Given the description of an element on the screen output the (x, y) to click on. 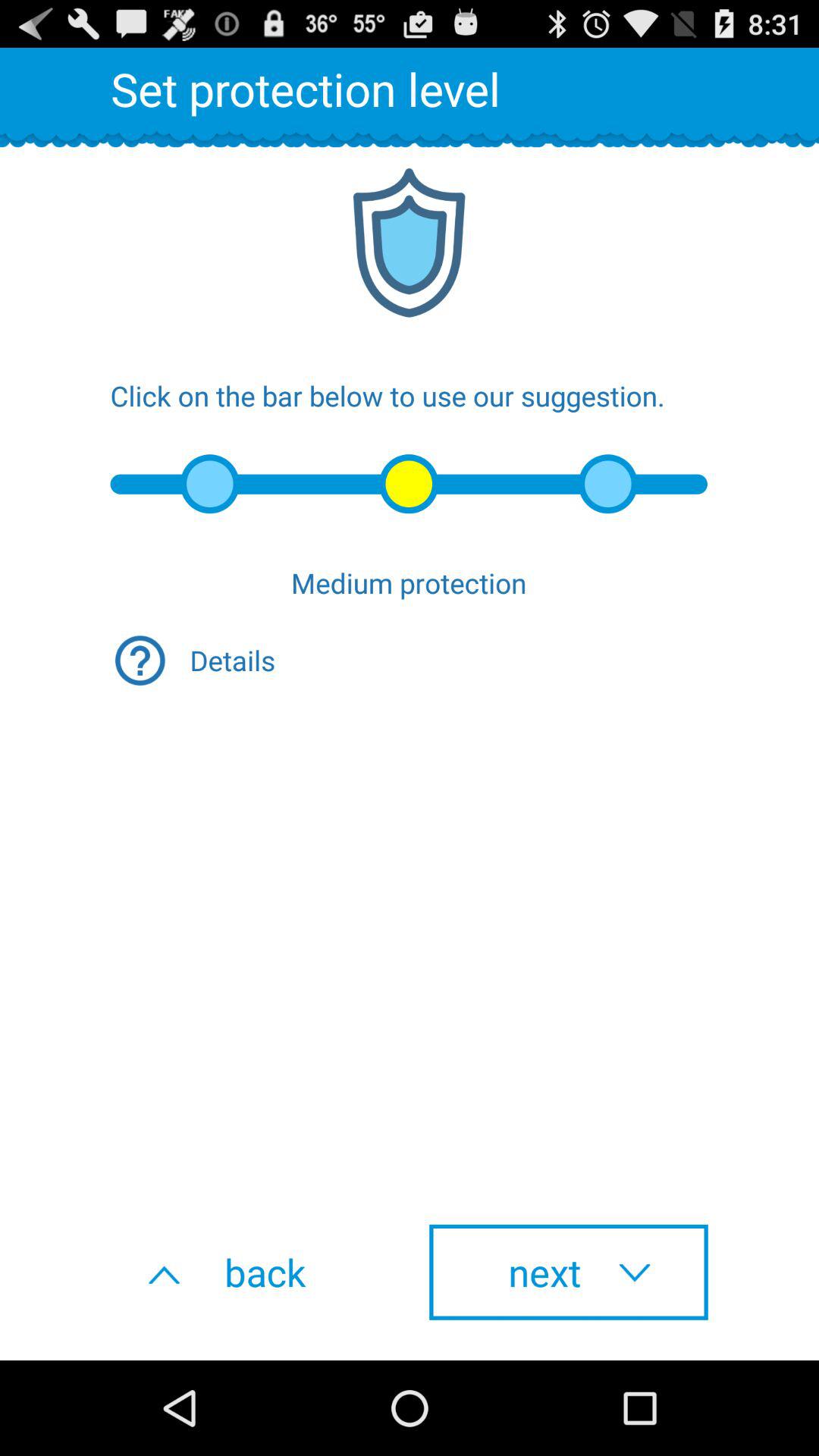
flip until the next (568, 1272)
